Given the description of an element on the screen output the (x, y) to click on. 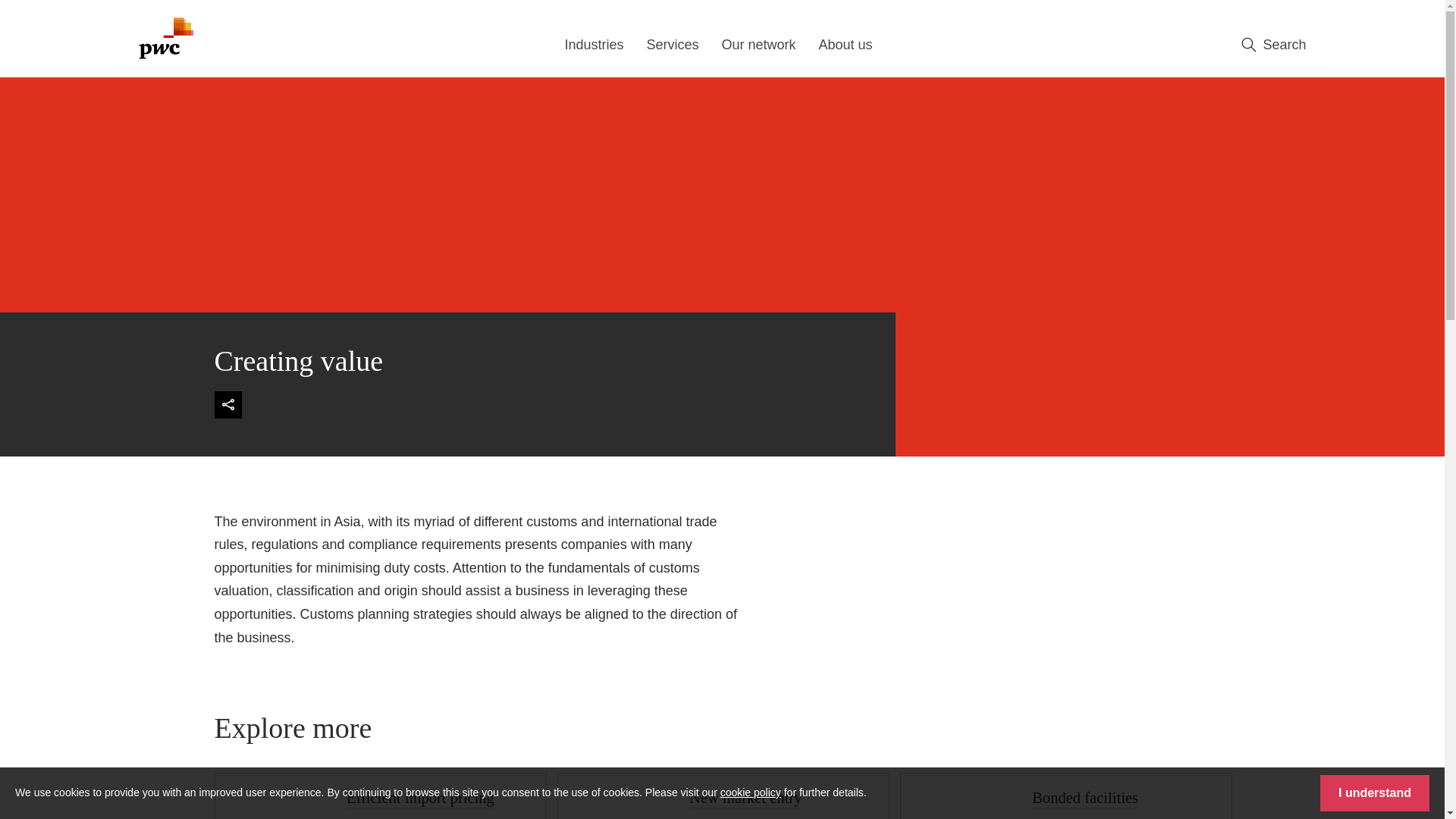
Industries (593, 49)
cookie policy (750, 792)
Our network (757, 49)
Search (1273, 45)
About us (845, 49)
Services (672, 49)
I understand (1374, 792)
